Given the description of an element on the screen output the (x, y) to click on. 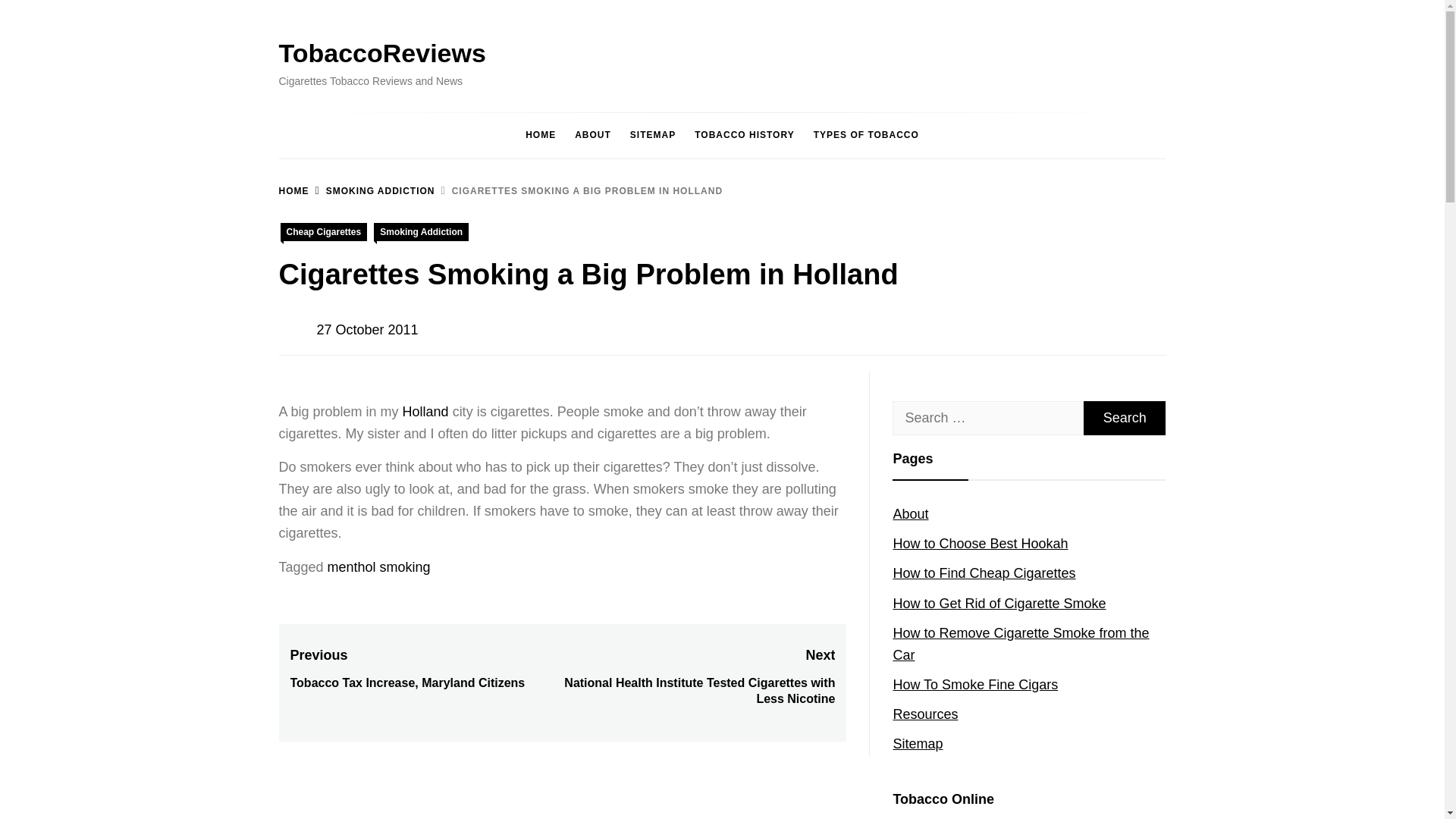
27 October 2011 (368, 329)
Search (1124, 417)
How to Get Rid of Cigarette Smoke (998, 603)
Resources (925, 713)
How to Choose Best Hookah (979, 543)
ABOUT (592, 135)
TYPES OF TOBACCO (866, 135)
How To Smoke Fine Cigars (975, 684)
SMOKING ADDICTION (371, 190)
SITEMAP (652, 135)
CIGARETTES SMOKING A BIG PROBLEM IN HOLLAND (579, 190)
Sitemap (917, 743)
TobaccoReviews (382, 52)
Search (1124, 417)
